Given the description of an element on the screen output the (x, y) to click on. 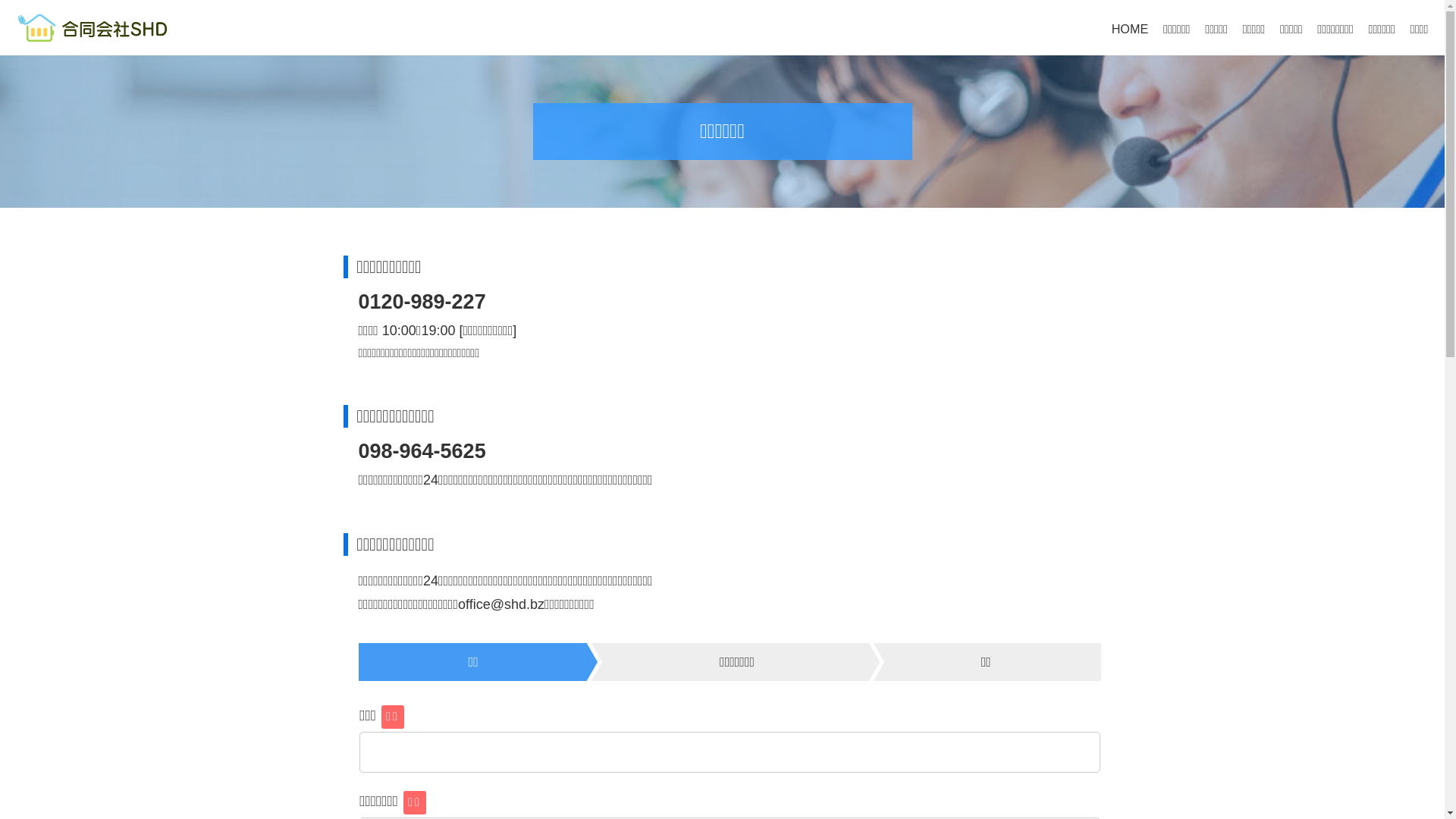
office@shd.bz Element type: text (501, 603)
HOME Element type: text (1129, 28)
